Given the description of an element on the screen output the (x, y) to click on. 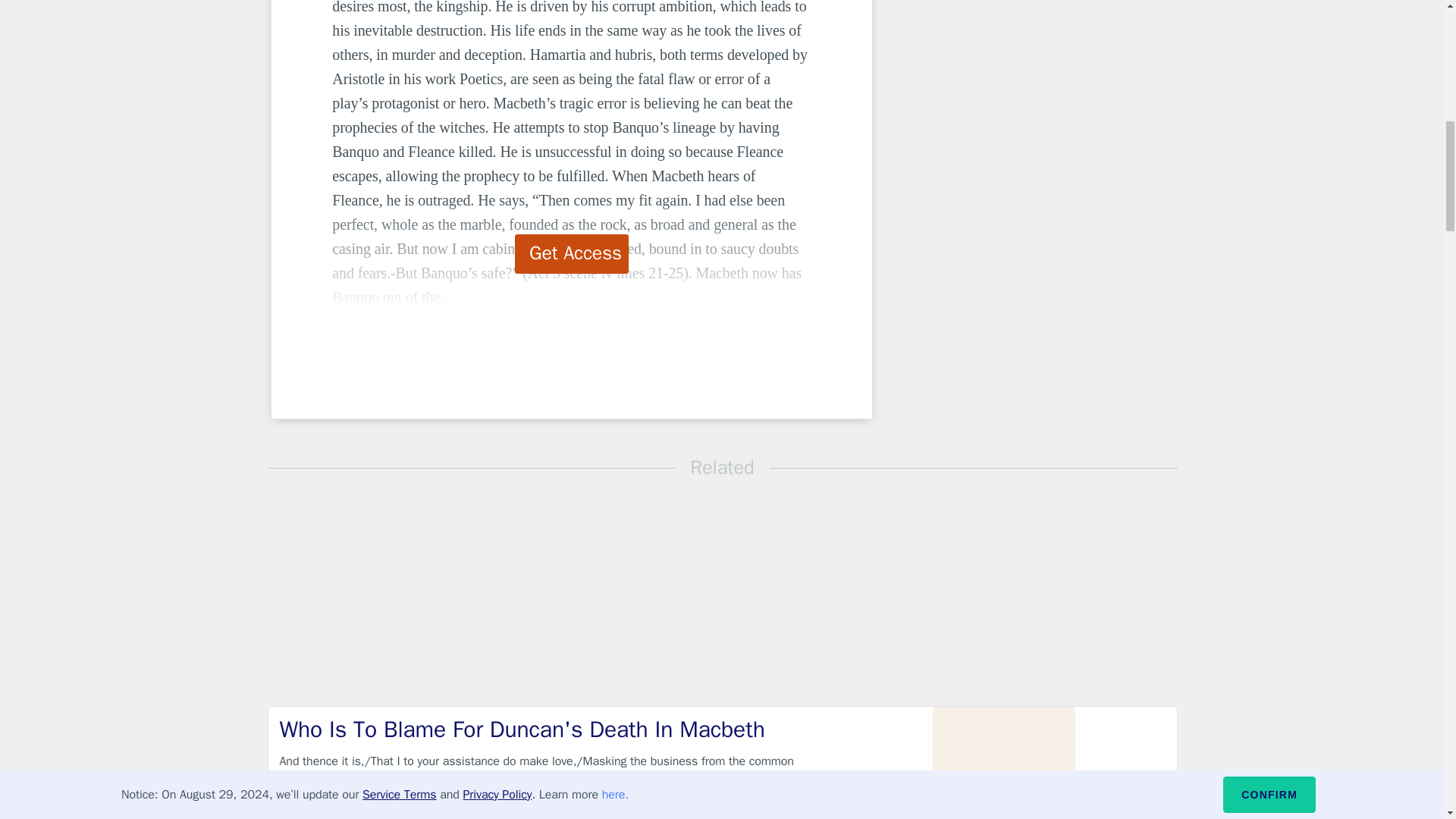
Read More (1126, 811)
Who Is To Blame For Duncan's Death In Macbeth (548, 729)
Get Access (571, 253)
